Given the description of an element on the screen output the (x, y) to click on. 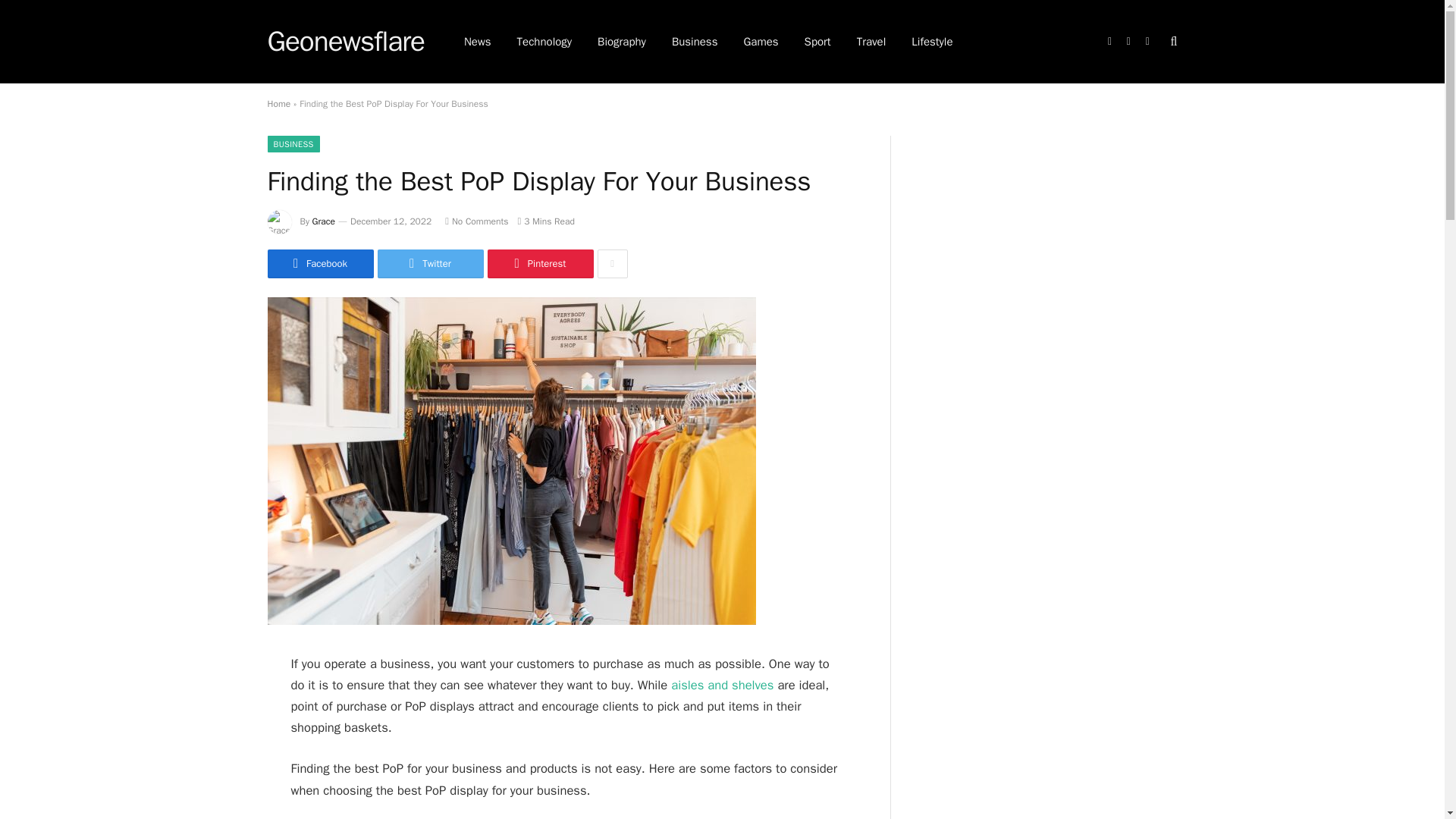
Technology (544, 41)
Show More Social Sharing (611, 263)
Geonewsflare (344, 41)
Pinterest (539, 263)
Facebook (319, 263)
Posts by Grace (323, 221)
Home (277, 103)
Grace (323, 221)
BUSINESS (292, 143)
Biography (622, 41)
No Comments (476, 221)
geonewsflare (344, 41)
Share on Facebook (319, 263)
Twitter (430, 263)
Share on Pinterest (539, 263)
